Given the description of an element on the screen output the (x, y) to click on. 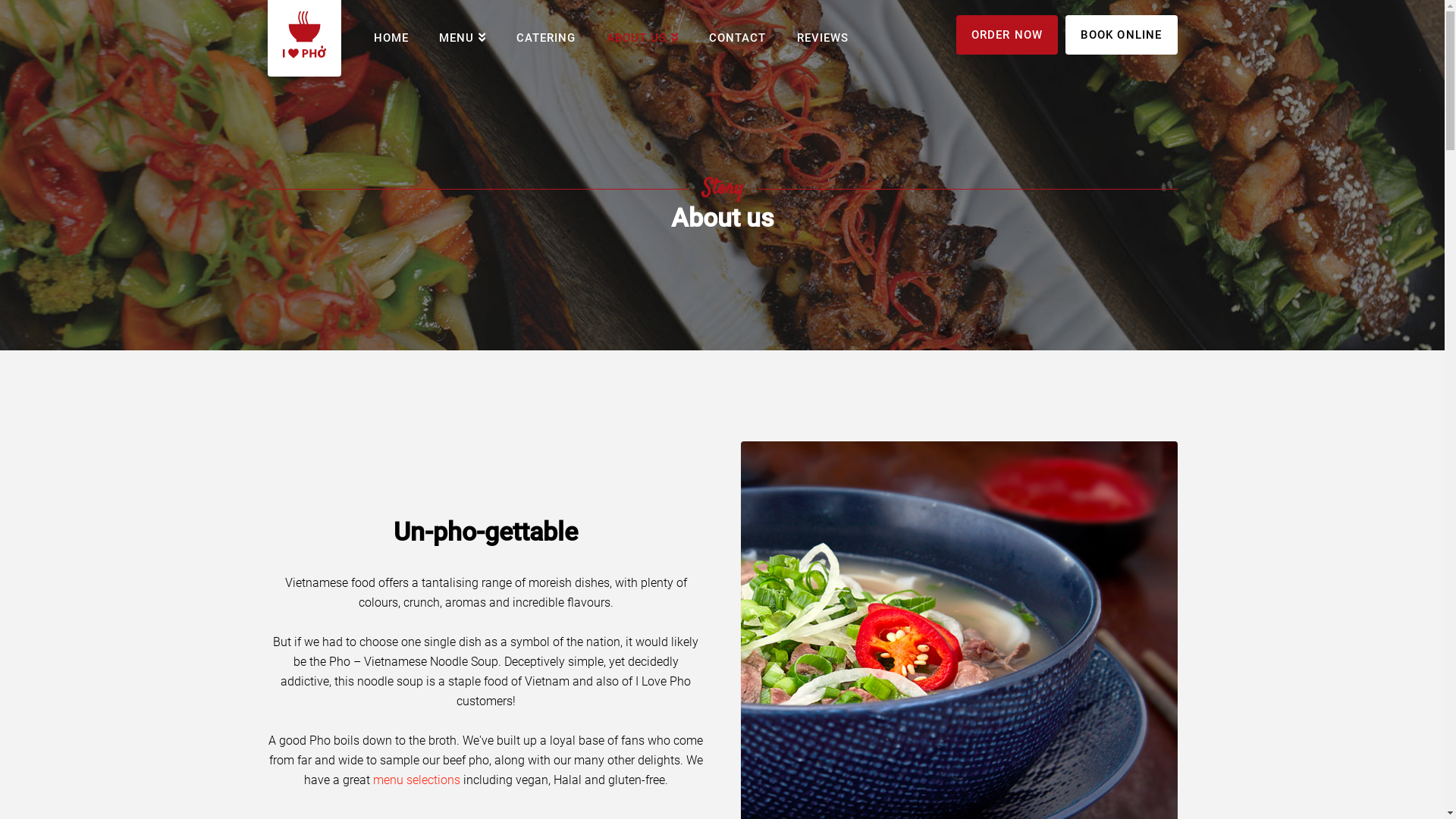
CONTACT Element type: text (737, 38)
menu selections Element type: text (416, 779)
ABOUT US Element type: text (642, 37)
ORDER NOW Element type: text (1007, 34)
REVIEWS Element type: text (822, 38)
HOME Element type: text (390, 38)
CATERING Element type: text (546, 38)
BOOK ONLINE Element type: text (1120, 34)
MENU Element type: text (462, 37)
